Given the description of an element on the screen output the (x, y) to click on. 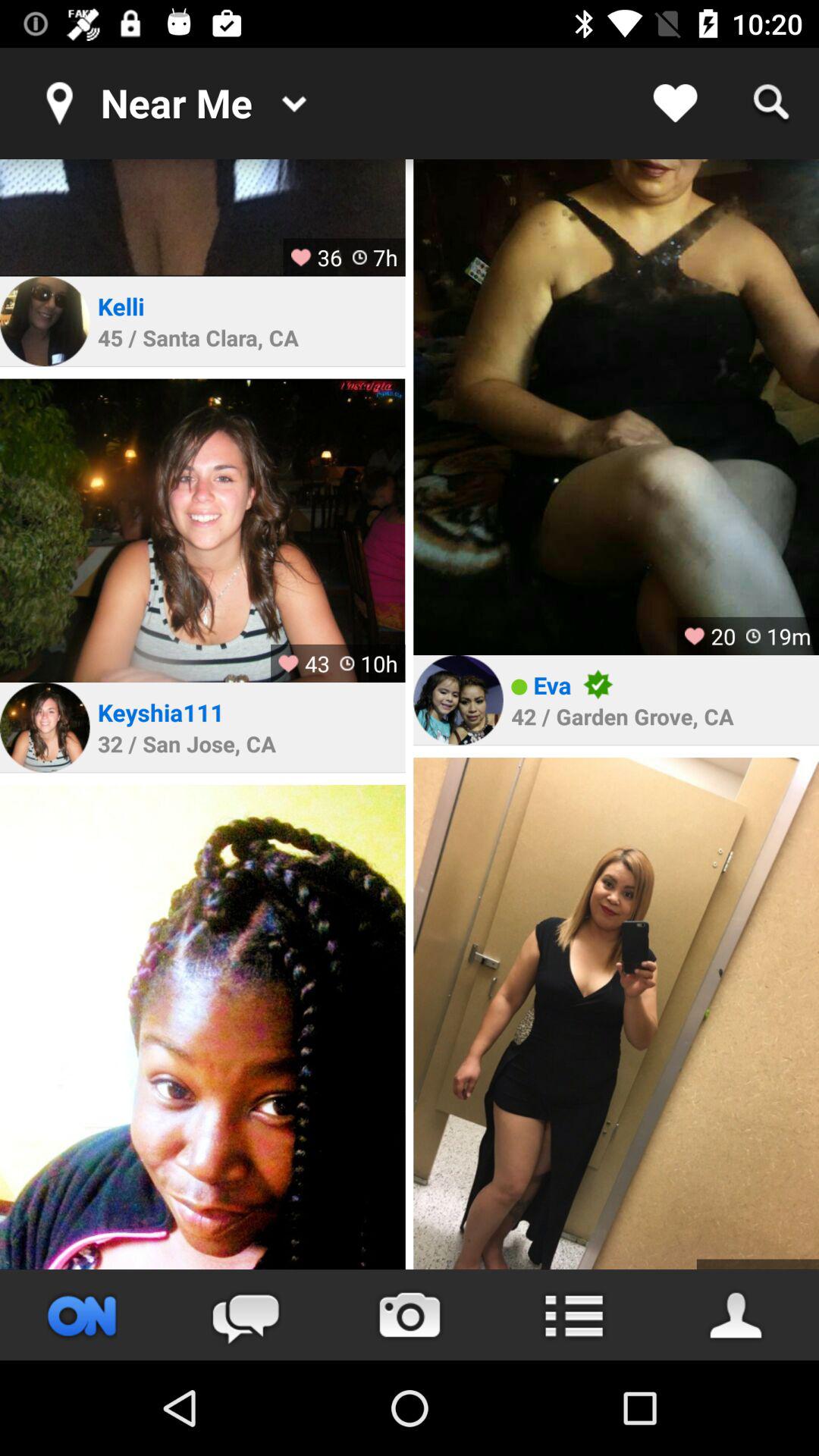
view profile (44, 727)
